Given the description of an element on the screen output the (x, y) to click on. 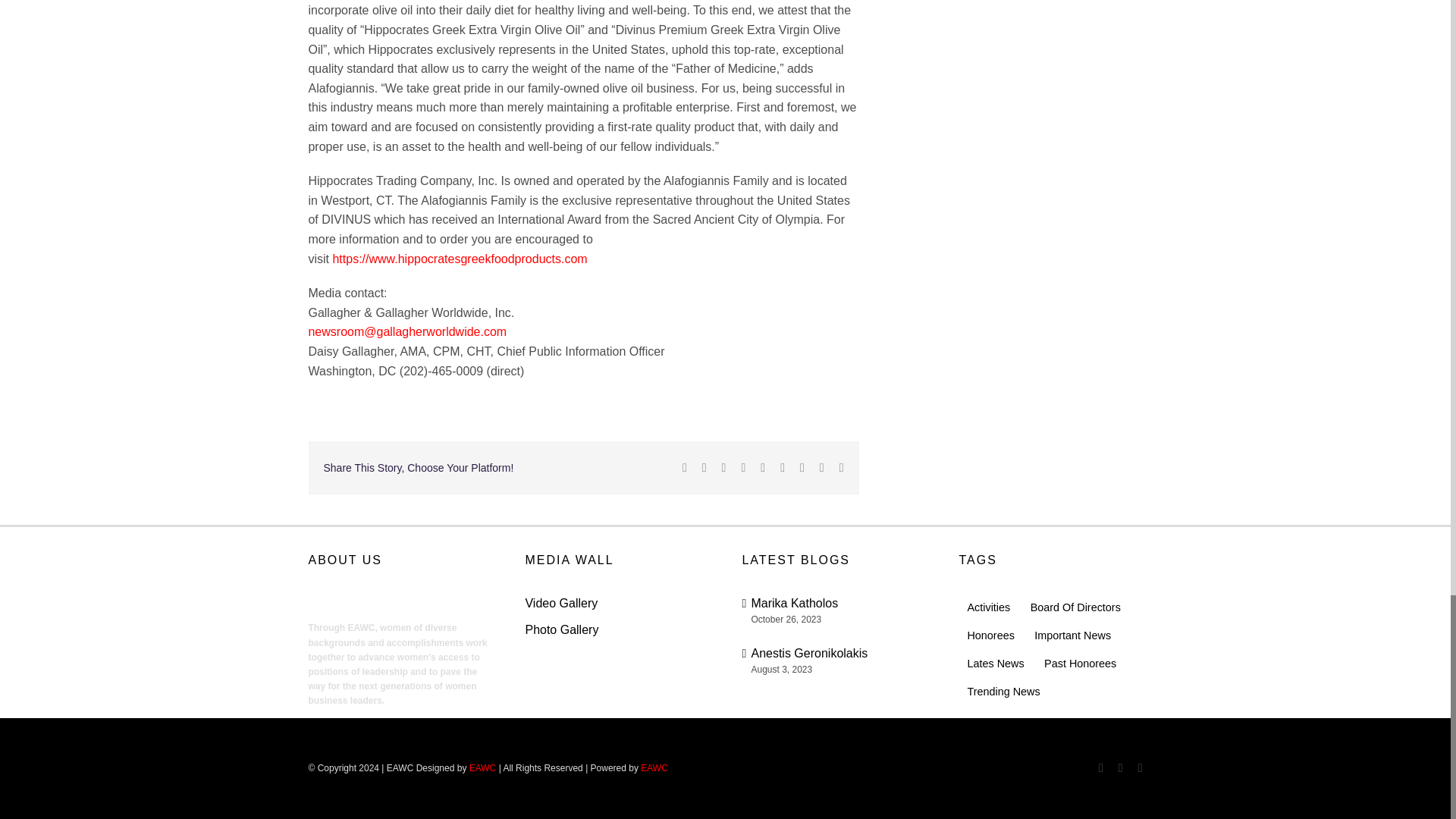
nn (364, 602)
